Given the description of an element on the screen output the (x, y) to click on. 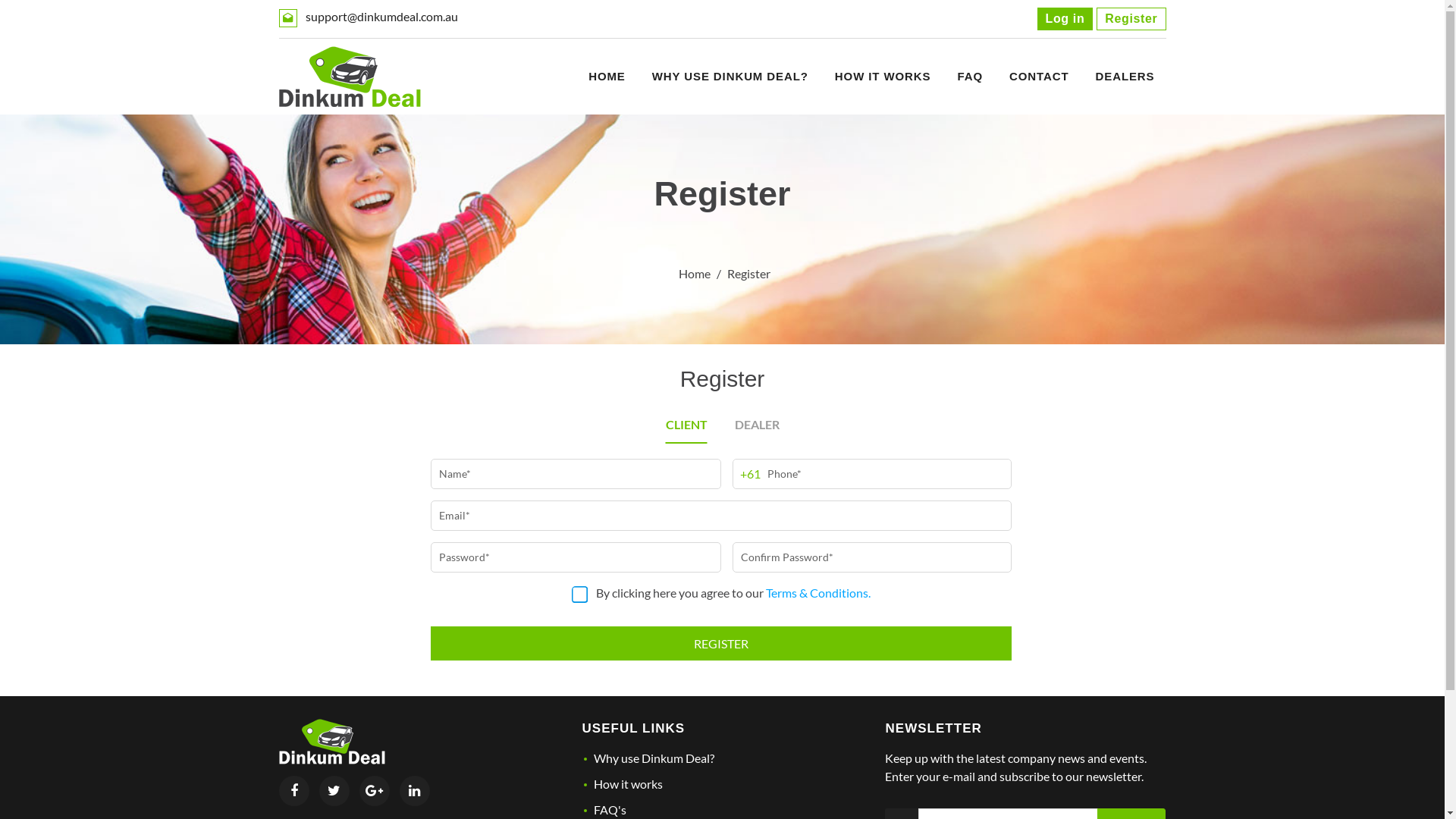
DEALER Element type: text (756, 424)
support@dinkumdeal.com.au Element type: text (380, 16)
CLIENT Element type: text (686, 424)
HOW IT WORKS Element type: text (882, 76)
Why use Dinkum Deal? Element type: text (653, 757)
Home Element type: text (693, 273)
CONTACT Element type: text (1038, 76)
How it works Element type: text (627, 783)
WHY USE DINKUM DEAL? Element type: text (729, 76)
FAQ's Element type: text (609, 809)
DEALERS Element type: text (1125, 76)
Log in Element type: text (1065, 18)
FAQ Element type: text (969, 76)
HOME Element type: text (607, 76)
Terms & Conditions. Element type: text (817, 589)
REGISTER Element type: text (720, 643)
Register Element type: text (1130, 18)
